Given the description of an element on the screen output the (x, y) to click on. 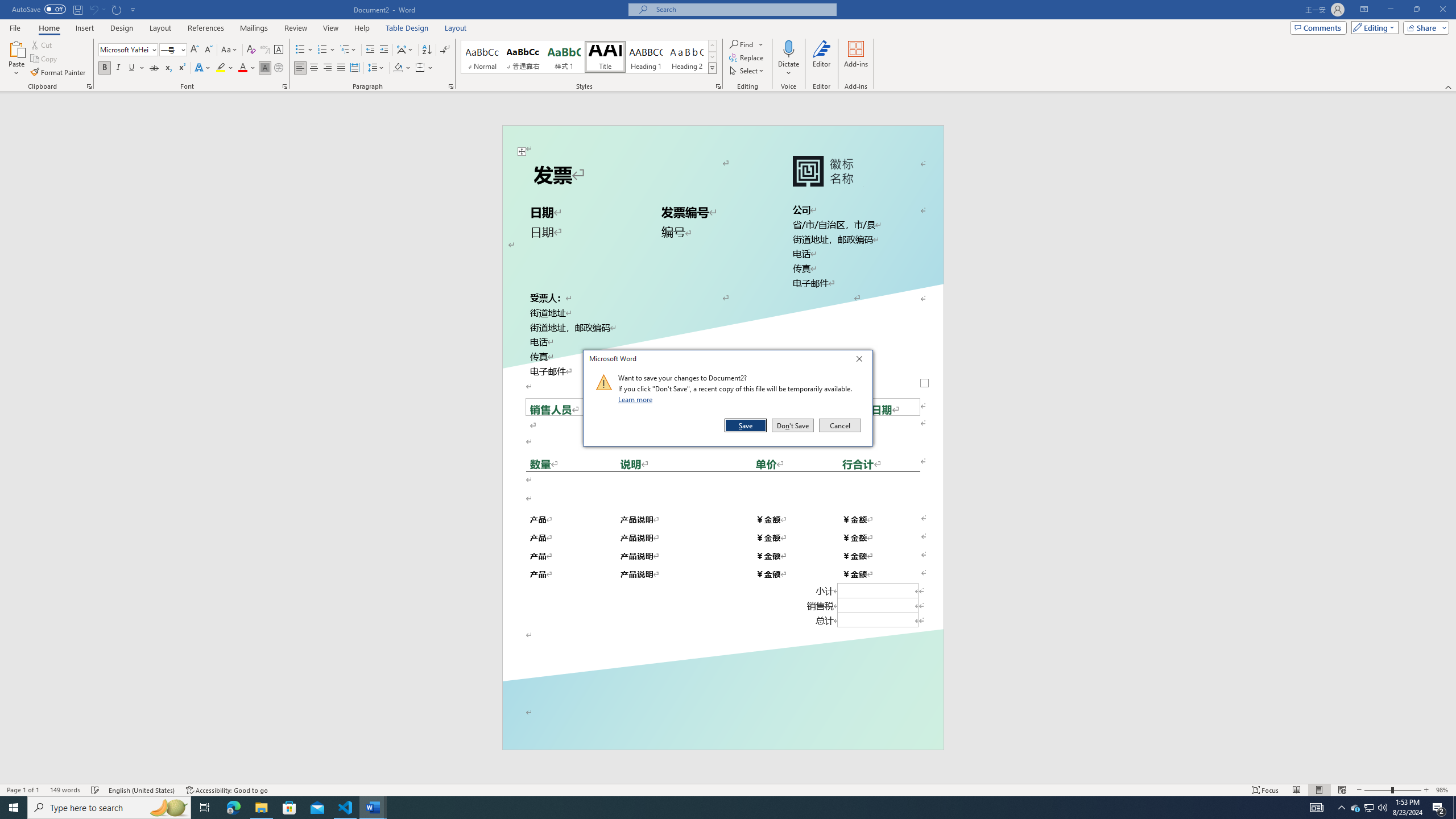
Spelling and Grammar Check Checking (94, 790)
Show/Hide Editing Marks (444, 49)
Decrease Indent (370, 49)
Grow Font (193, 49)
Font Color RGB(255, 0, 0) (241, 67)
Customize Quick Access Toolbar (133, 9)
Paragraph... (450, 85)
Class: NetUIScrollBar (1450, 437)
Zoom Out (1377, 790)
Numbering (322, 49)
Align Left (300, 67)
Notification Chevron (1341, 807)
Zoom (1392, 790)
Styles (711, 67)
